Given the description of an element on the screen output the (x, y) to click on. 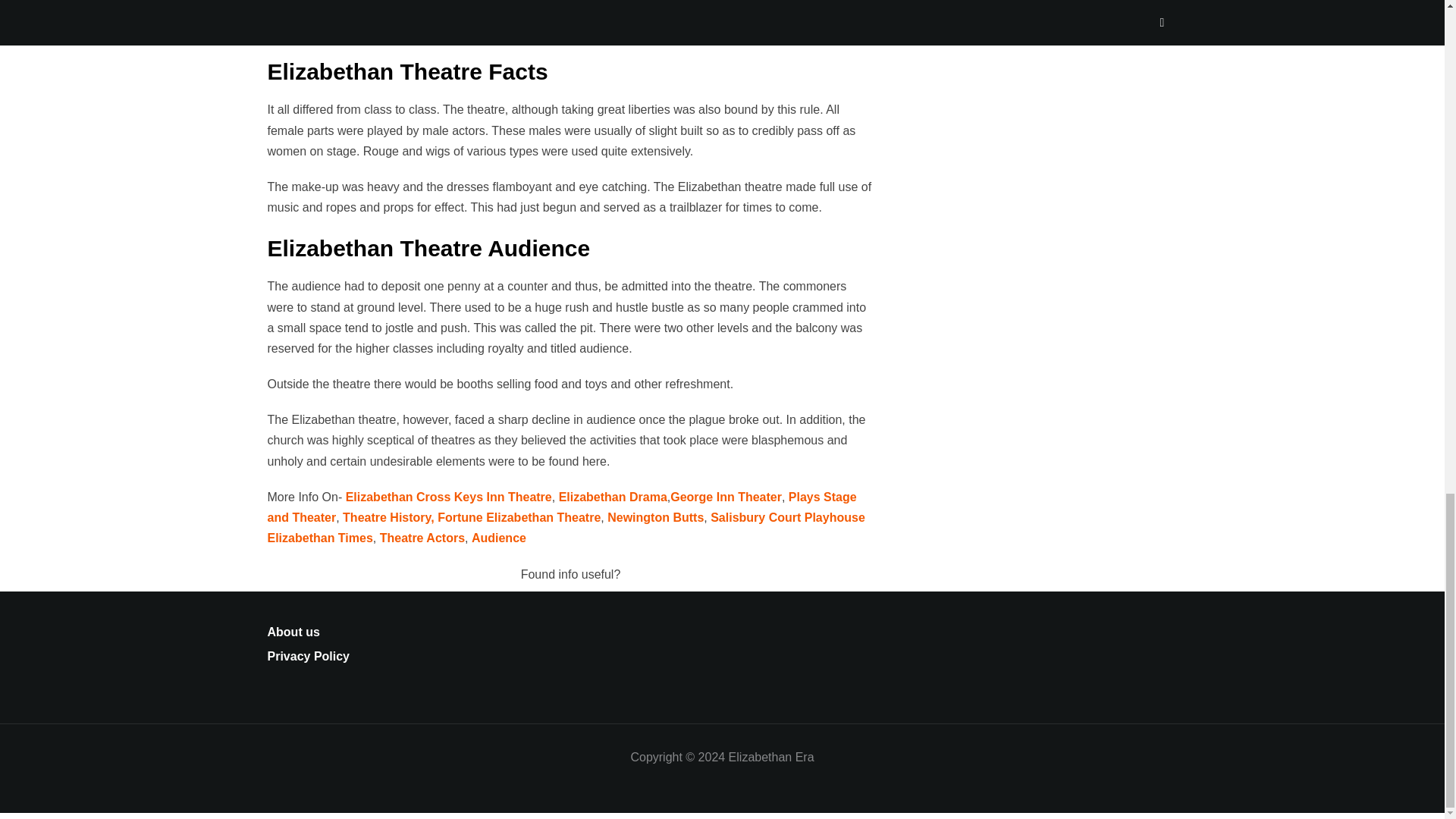
George Inn Theater (725, 496)
Privacy Policy (307, 656)
About us (292, 631)
Plays Stage and Theater (561, 507)
Newington Butts (655, 517)
Salisbury Court Playhouse Elizabethan Times (565, 527)
Elizabethan Cross Keys Inn Theatre (448, 496)
Elizabethan Drama (612, 496)
Fortune Elizabethan Theatre (518, 517)
Theatre Actors (422, 537)
